Given the description of an element on the screen output the (x, y) to click on. 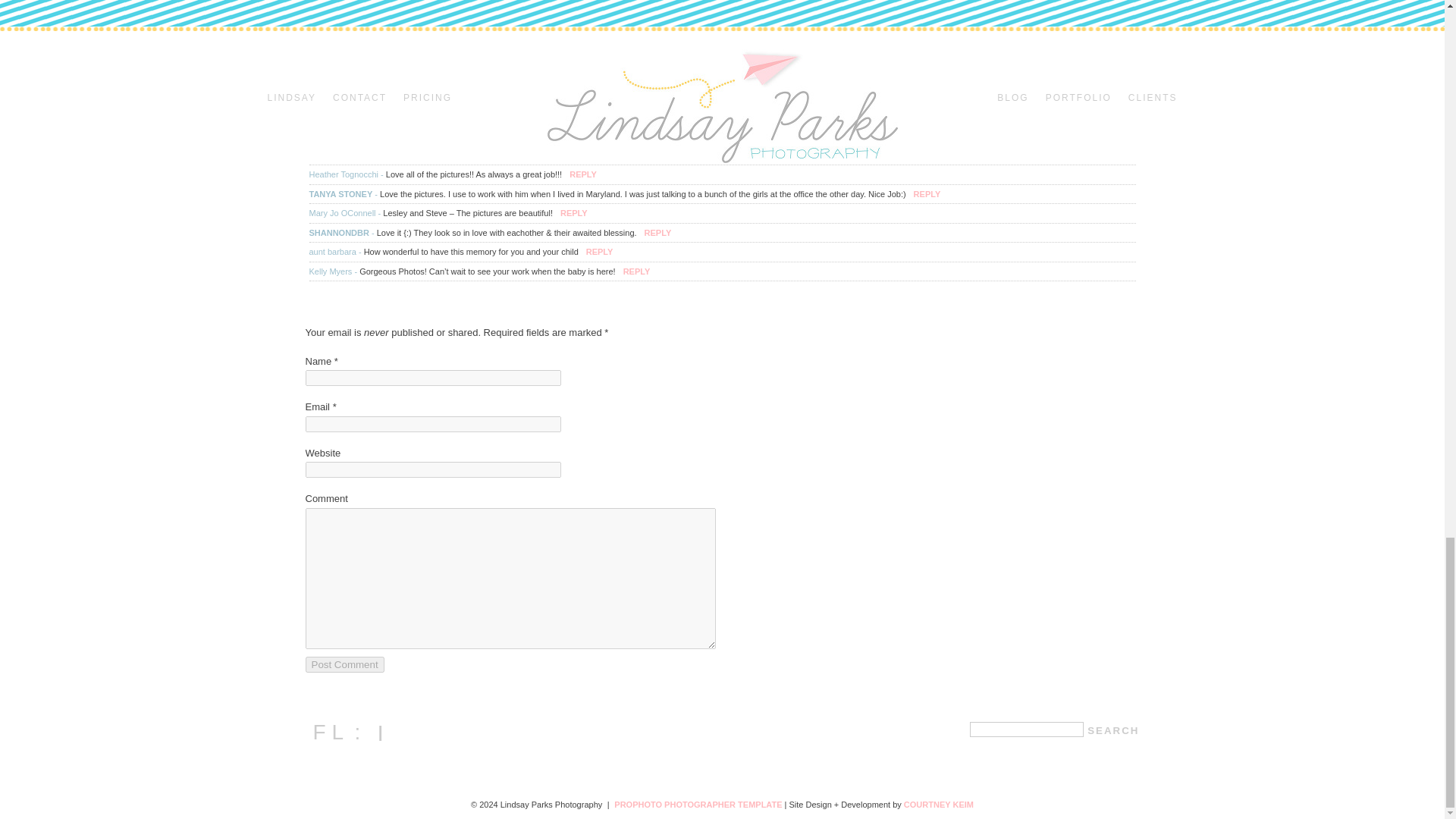
F (676, 54)
F (315, 732)
Search (1112, 730)
Post Comment (344, 664)
Post Comment (344, 664)
PROPHOTO PHOTOGRAPHER TEMPLATE (697, 804)
L (714, 54)
REPLY (636, 271)
Search (1112, 730)
REPLY (599, 251)
- 7 COMMENTS (342, 115)
REPLY (574, 212)
: (752, 54)
TANYA STONEY (340, 194)
REPLY (582, 174)
